Given the description of an element on the screen output the (x, y) to click on. 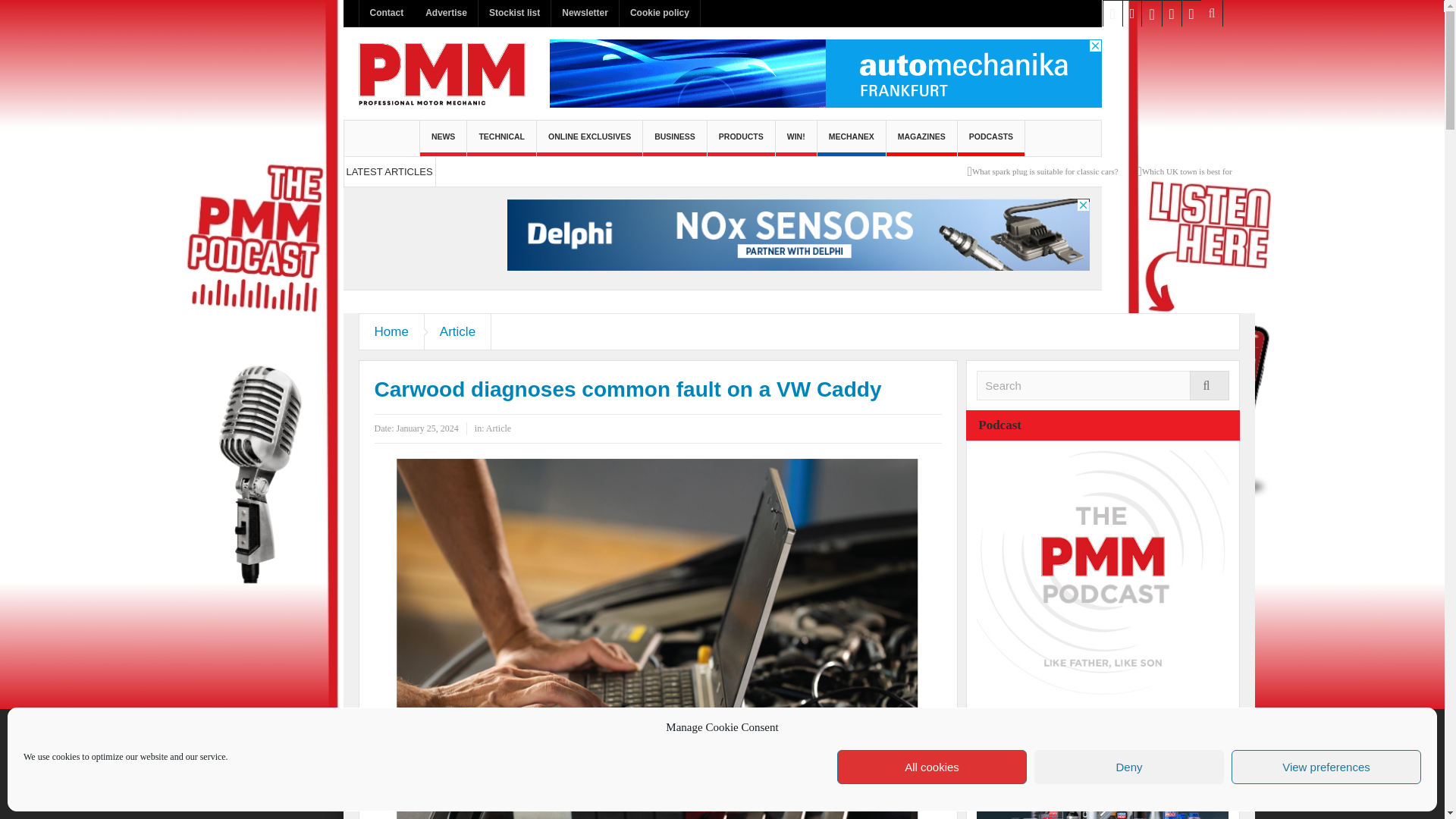
Advertise (445, 13)
Search for: (1102, 385)
Search (1102, 385)
Stockist list (514, 13)
Cookie policy (660, 13)
MAGAZINES (921, 138)
PODCASTS (991, 138)
MECHANEX (850, 138)
NEWS (443, 138)
Article (458, 331)
View preferences (1326, 766)
Deny (1128, 766)
Contact (386, 13)
Newsletter (584, 13)
3rd party ad content (797, 236)
